Given the description of an element on the screen output the (x, y) to click on. 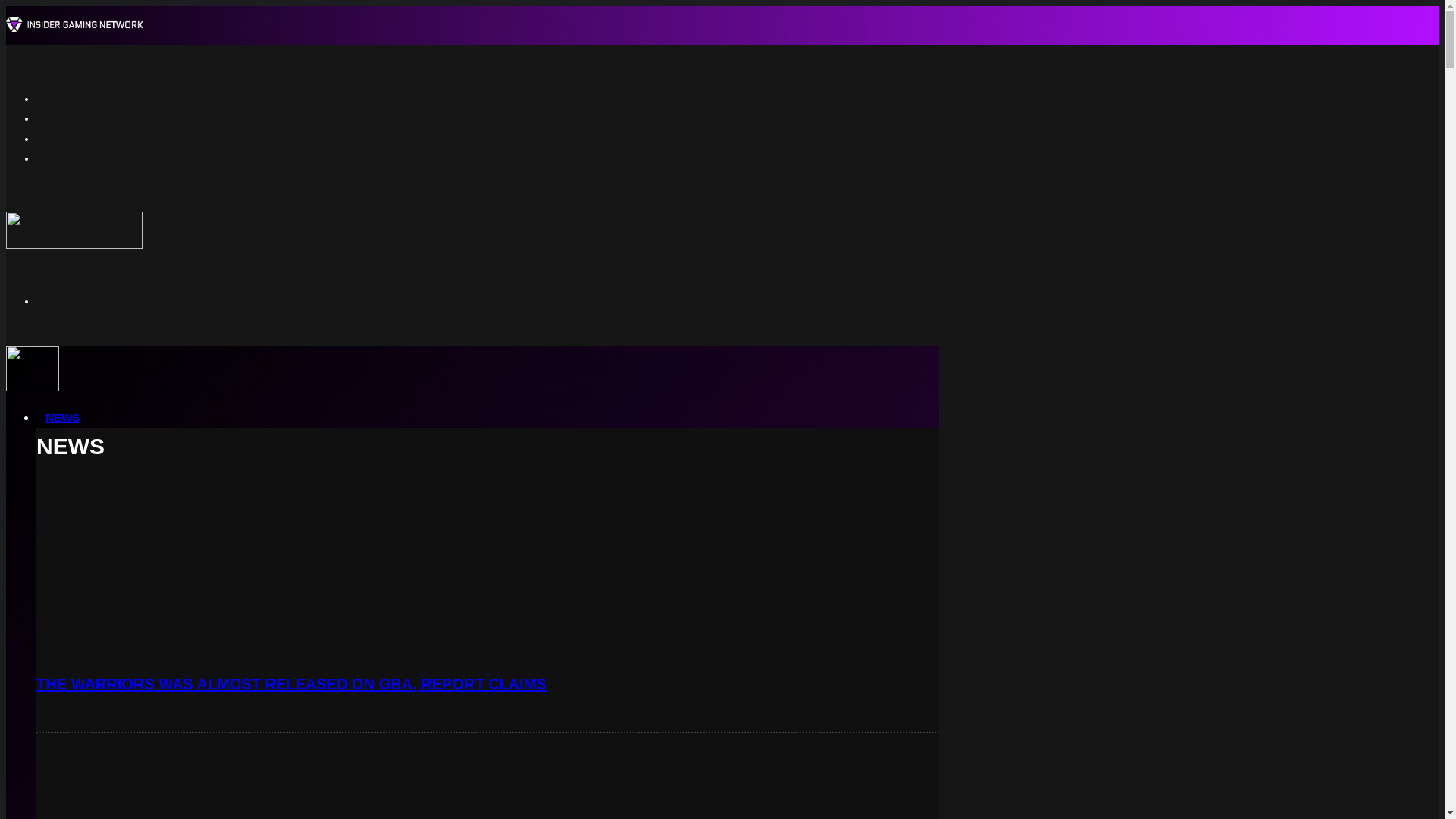
NEWS (62, 417)
THE WARRIORS WAS ALMOST RELEASED ON GBA, REPORT CLAIMS (291, 683)
